Given the description of an element on the screen output the (x, y) to click on. 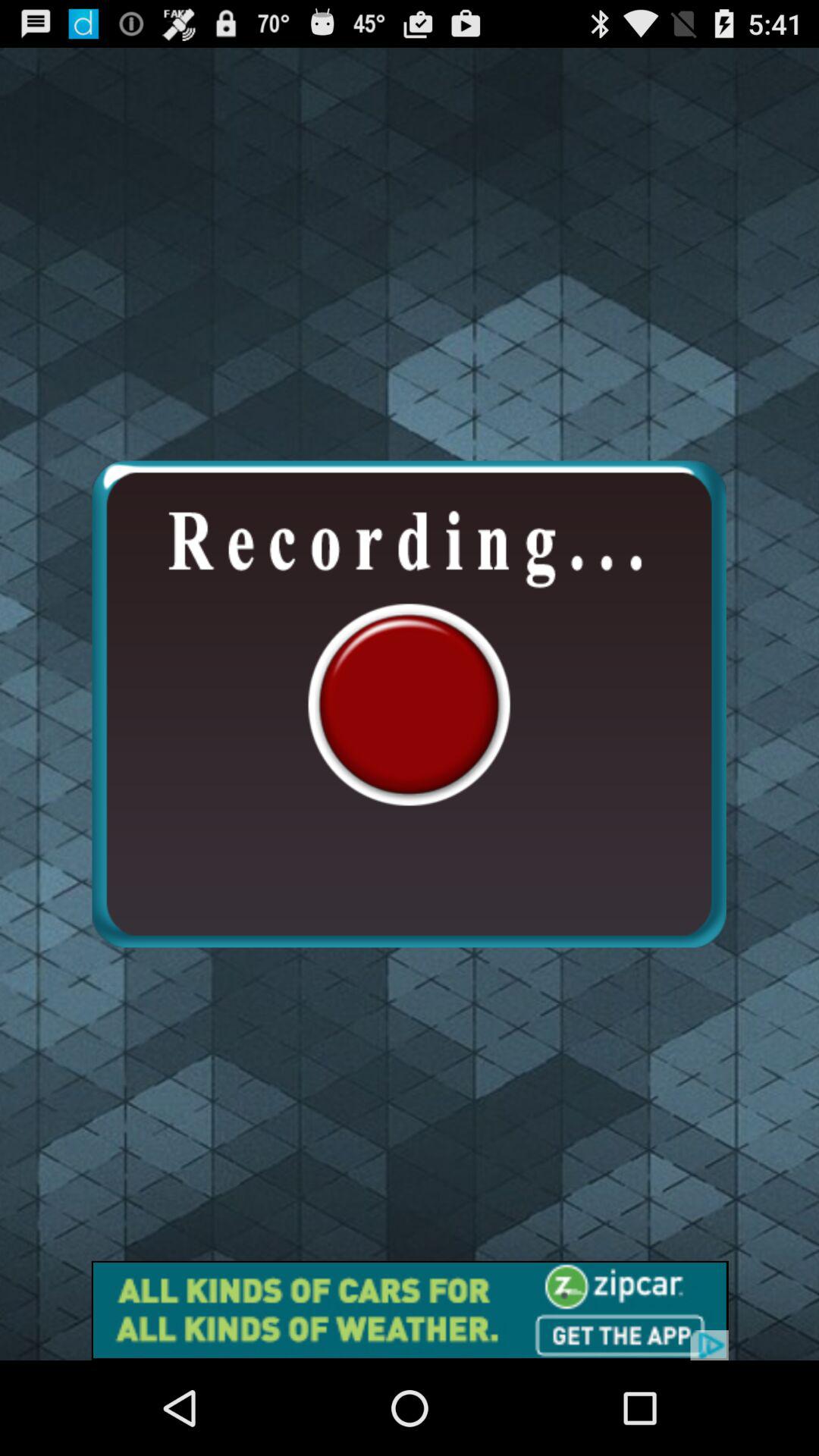
shows the advertisement tab (409, 1310)
